Given the description of an element on the screen output the (x, y) to click on. 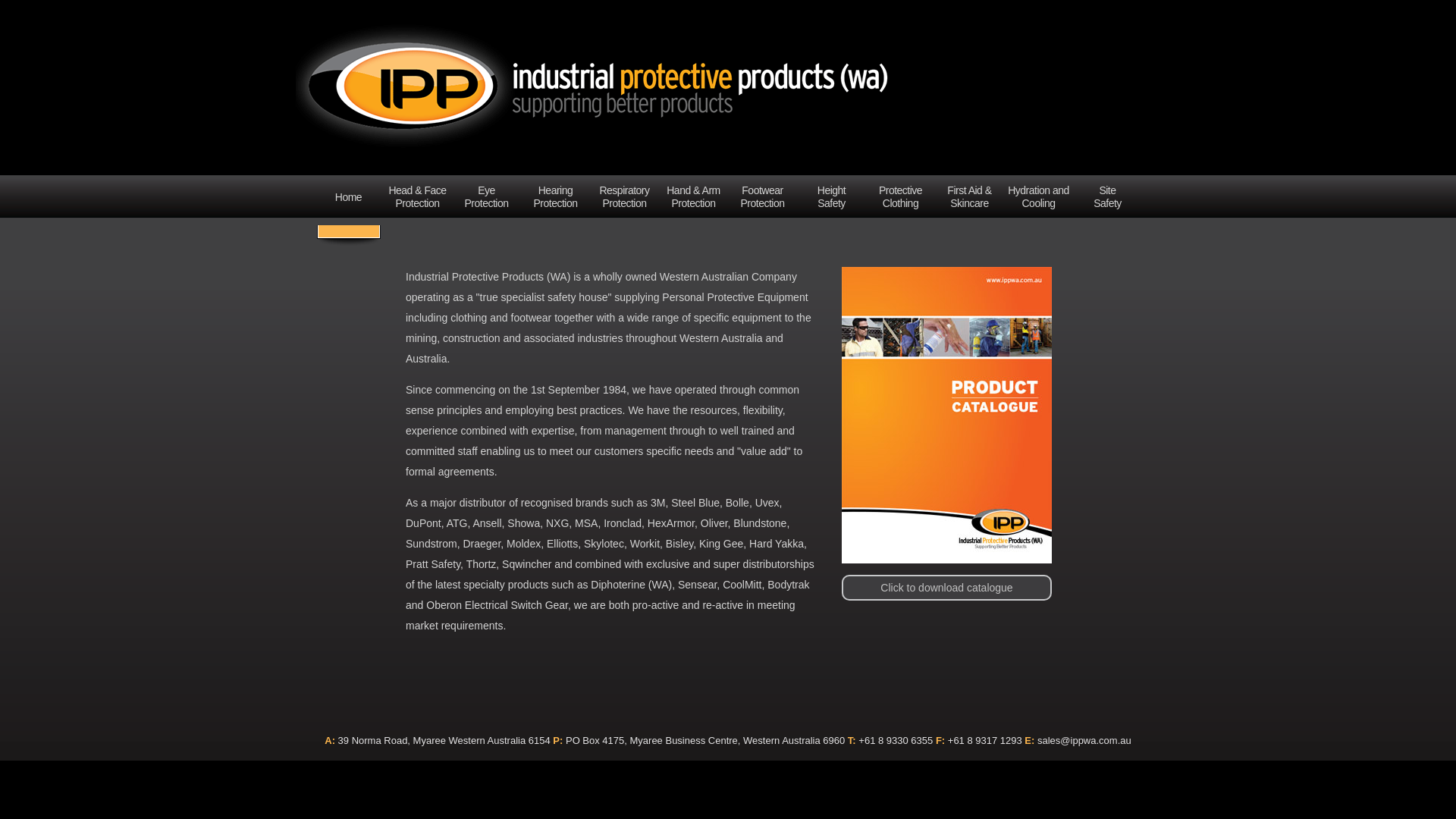
Hearing Protection Element type: text (554, 197)
Hand & Arm Protection Element type: text (693, 197)
First Aid & Skincare Element type: text (969, 197)
Footwear Protection Element type: text (762, 197)
Home Element type: text (348, 197)
Protective Clothing Element type: text (900, 197)
Site
Safety Element type: text (1107, 197)
Respiratory Protection Element type: text (623, 197)
Head & Face Protection Element type: text (416, 197)
Height
Safety Element type: text (831, 197)
Hydration and Cooling Element type: text (1038, 197)
Click to download catalogue Element type: text (1000, 503)
Eye
Protection Element type: text (485, 197)
